Given the description of an element on the screen output the (x, y) to click on. 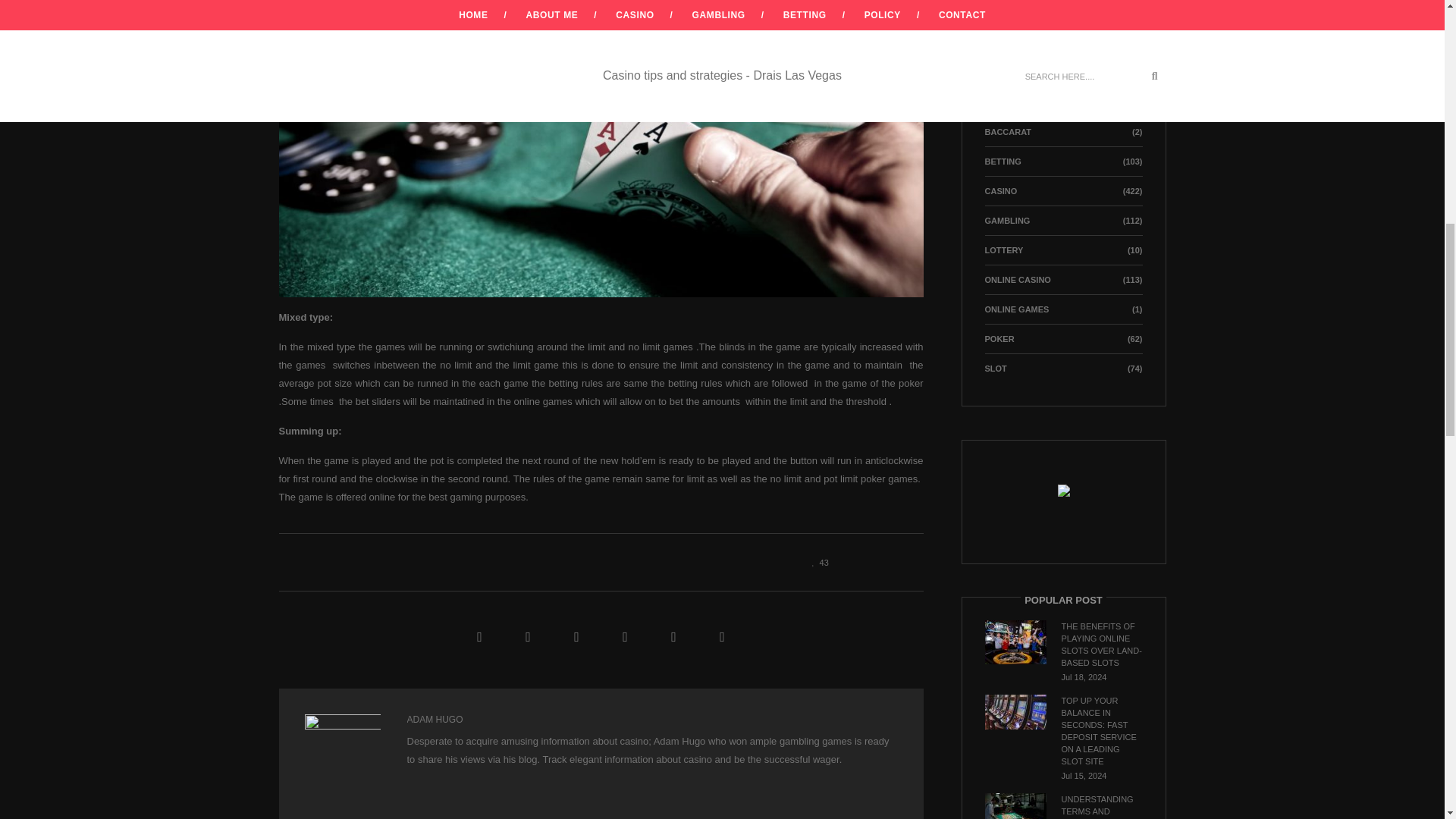
BETTING (1002, 161)
43 (815, 561)
BACCARAT (1007, 131)
GAMBLING (1006, 220)
ONLINE CASINO (1016, 279)
CASINO (1000, 190)
LOTTERY (1003, 249)
ADAM HUGO (434, 719)
Like (815, 561)
